Given the description of an element on the screen output the (x, y) to click on. 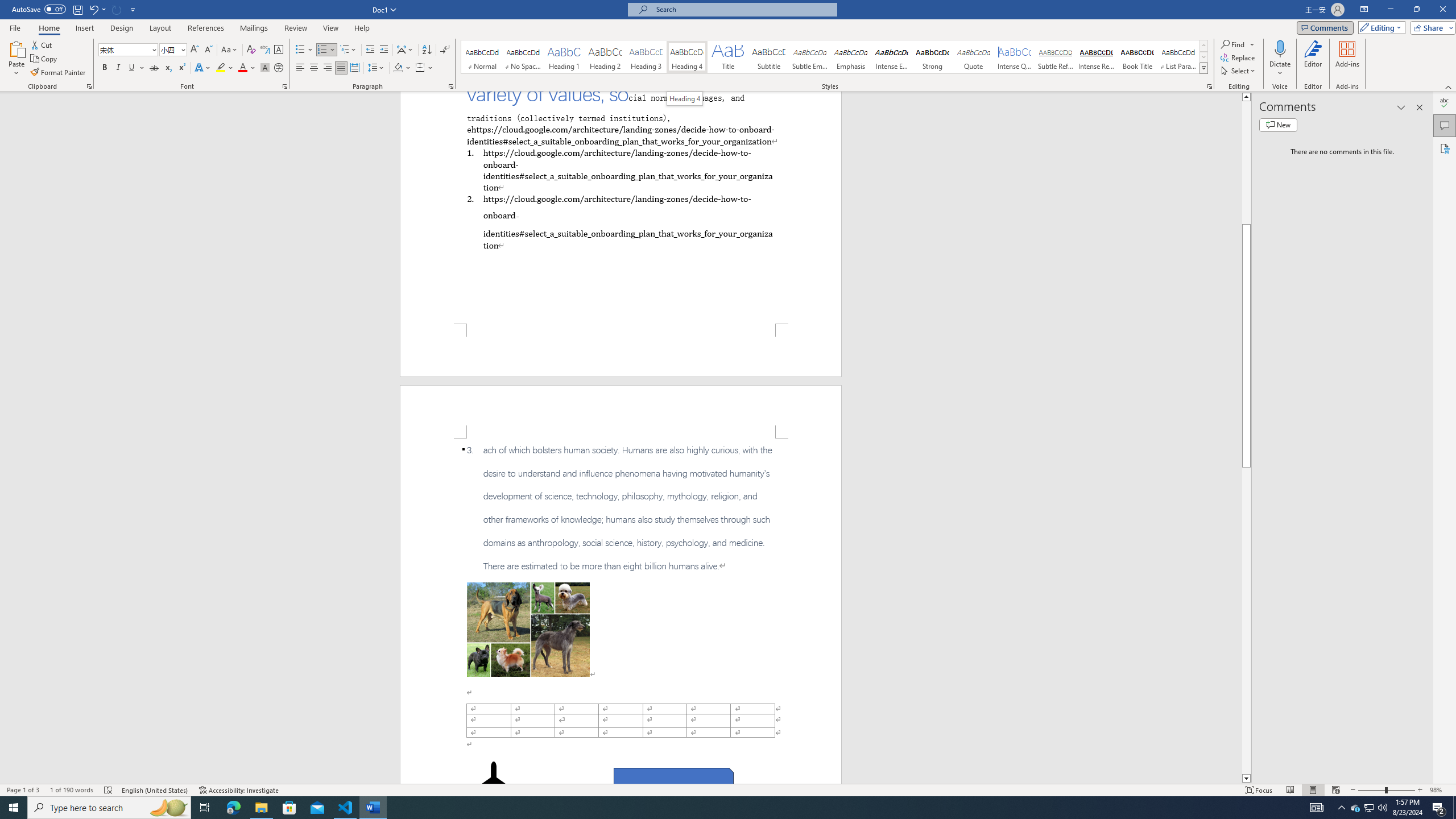
Ribbon Display Options (1364, 9)
Shading (402, 67)
Minimize (1390, 9)
Share (1430, 27)
Comments (1444, 125)
2. (620, 216)
Justify (340, 67)
Underline (136, 67)
Italic (118, 67)
Design (122, 28)
Line and Paragraph Spacing (376, 67)
Superscript (180, 67)
Distributed (354, 67)
